Given the description of an element on the screen output the (x, y) to click on. 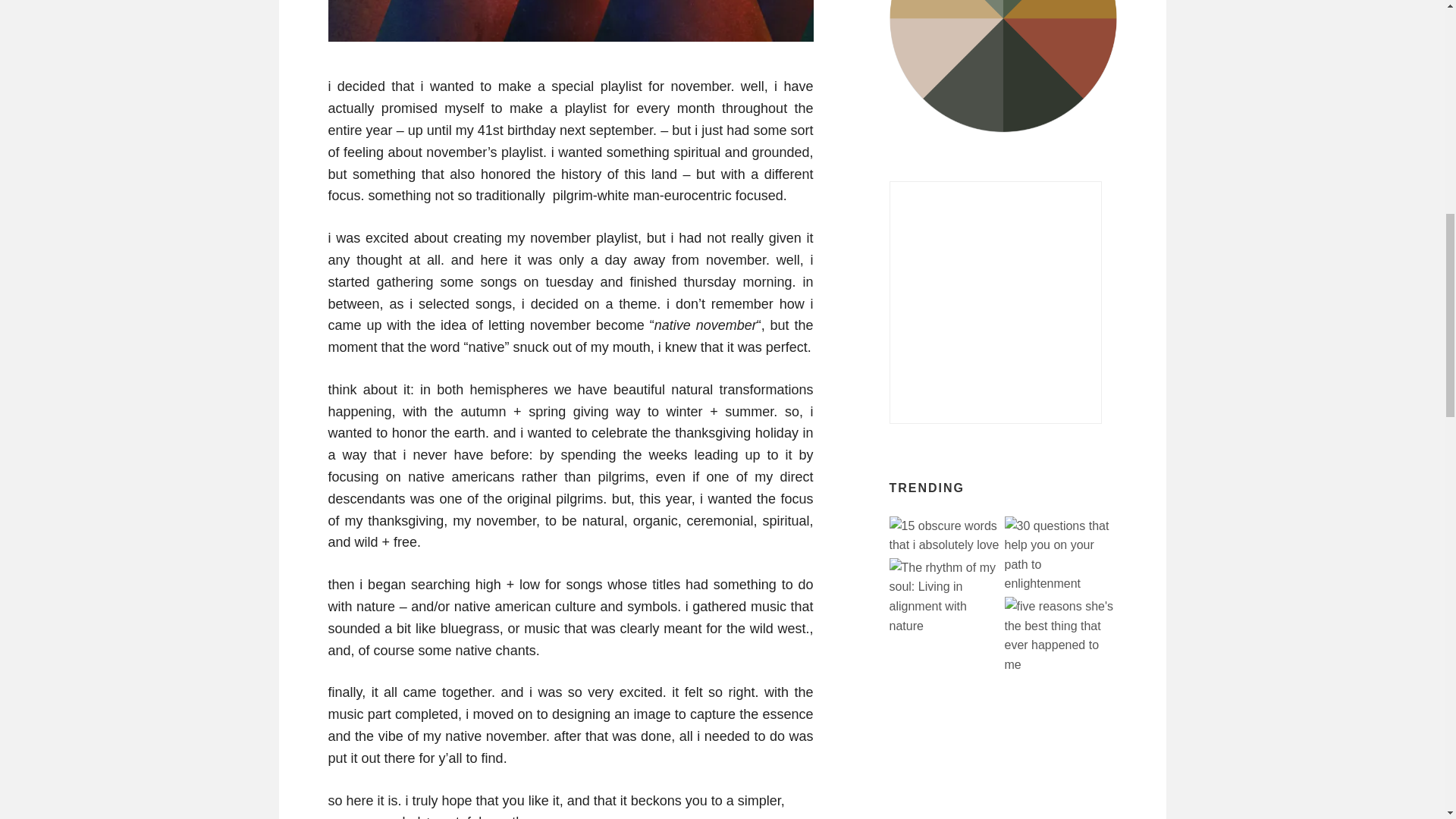
five reasons she's the best thing that ever happened to me (1060, 635)
15 obscure words that i absolutely love (944, 535)
30 questions that help you on your path to enlightenment (1060, 554)
The rhythm of my soul: Living in alignment with nature (944, 596)
